Given the description of an element on the screen output the (x, y) to click on. 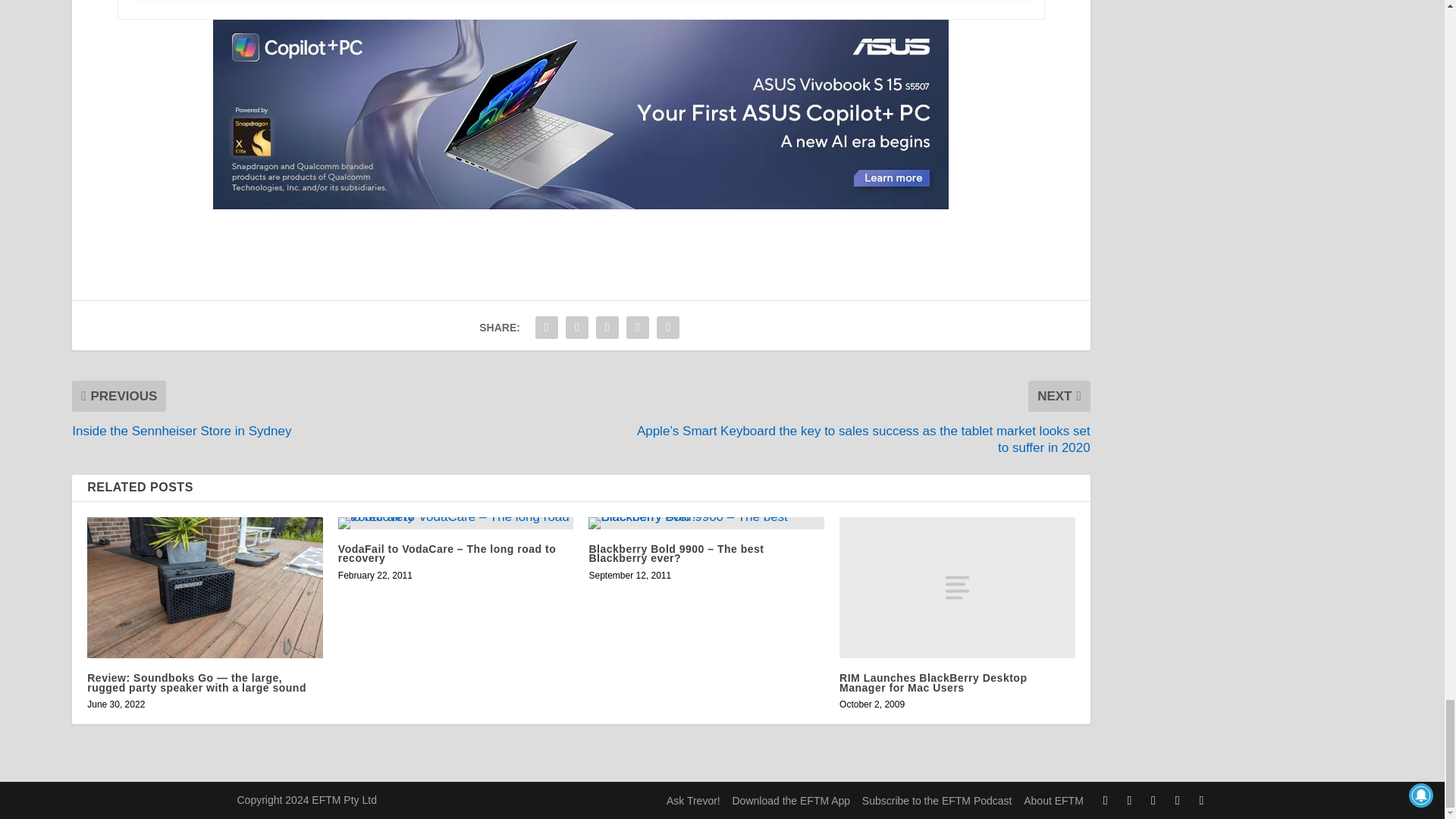
RIM Launches BlackBerry Desktop Manager for Mac Users (957, 587)
